Given the description of an element on the screen output the (x, y) to click on. 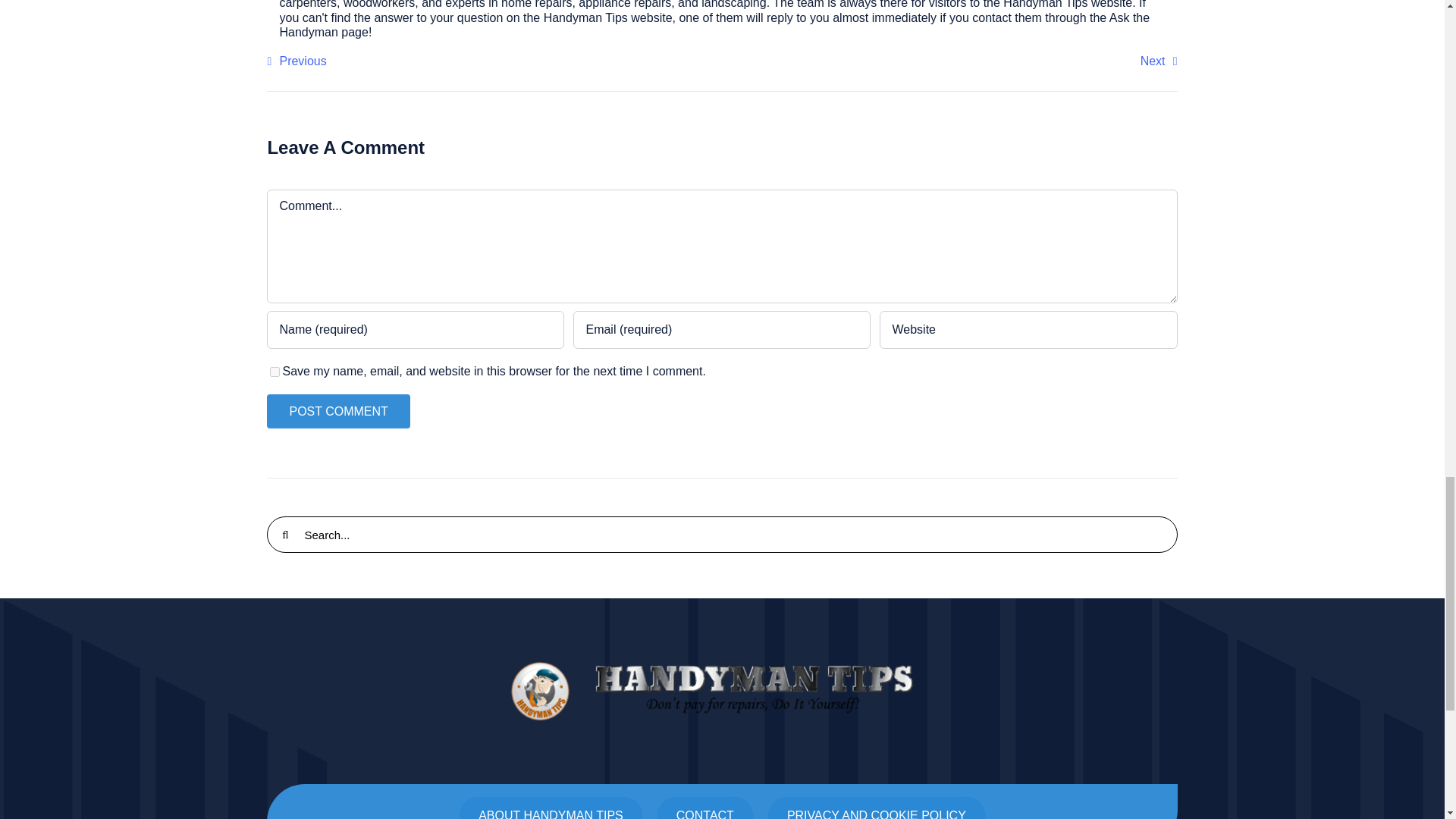
Post Comment (337, 410)
Previous (296, 60)
ABOUT HANDYMAN TIPS (551, 807)
CONTACT (705, 807)
Post Comment (337, 410)
yes (274, 371)
PRIVACY AND COOKIE POLICY (876, 807)
Next (1158, 60)
Handyman tips header new (721, 690)
